Given the description of an element on the screen output the (x, y) to click on. 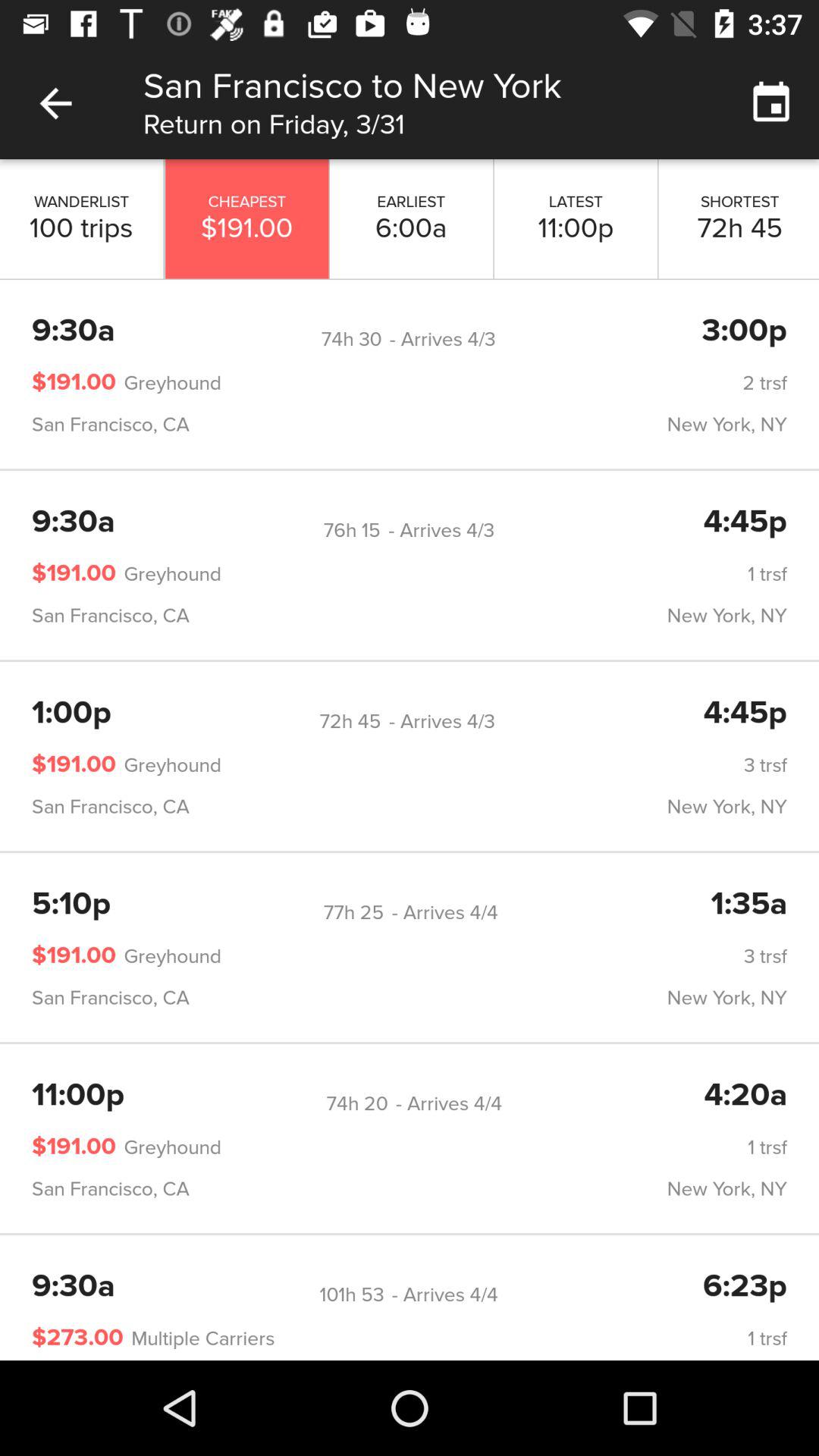
choose the item to the right of the 5:10p (353, 912)
